Given the description of an element on the screen output the (x, y) to click on. 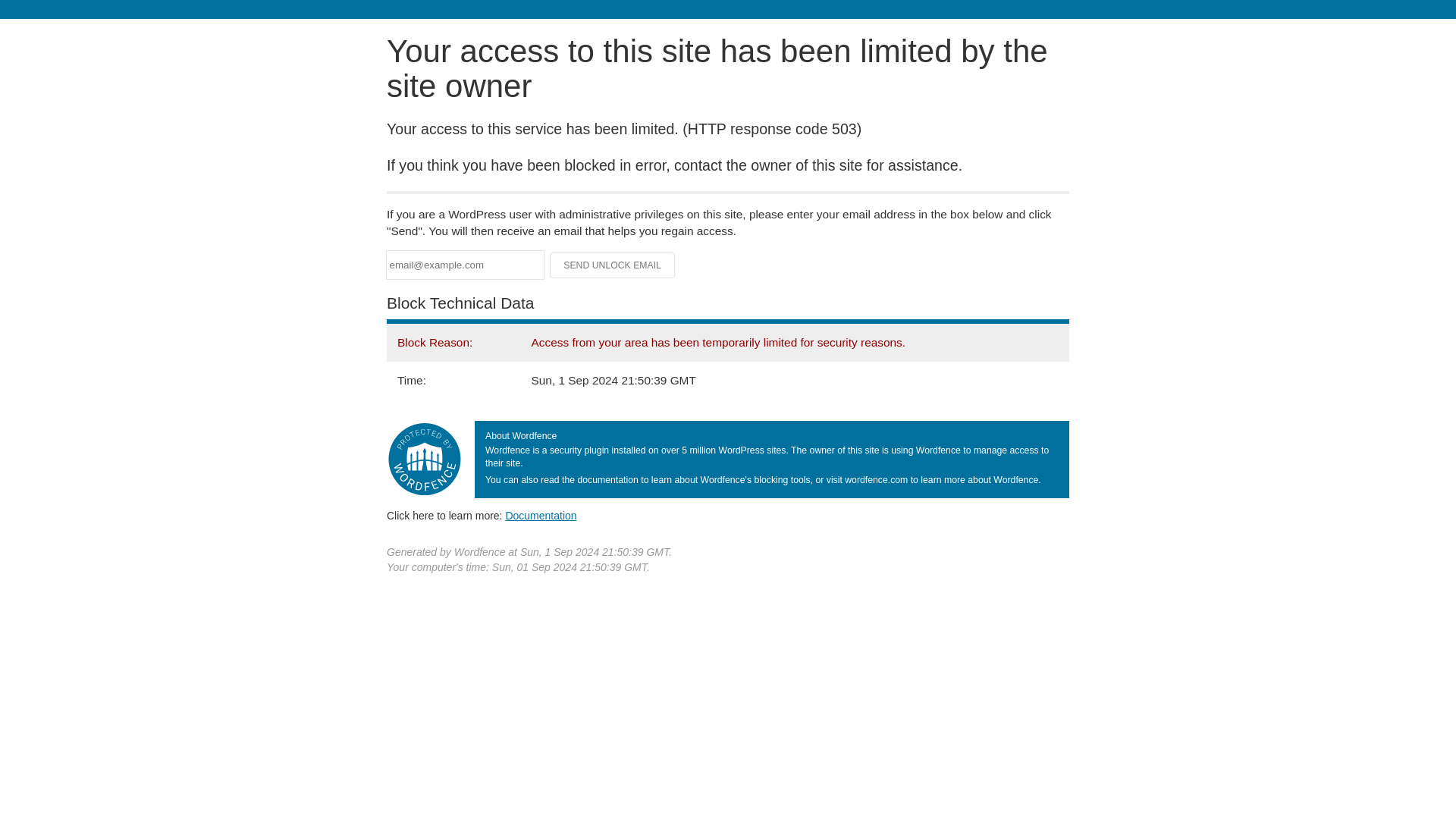
Documentation (540, 515)
Send Unlock Email (612, 265)
Send Unlock Email (612, 265)
